Given the description of an element on the screen output the (x, y) to click on. 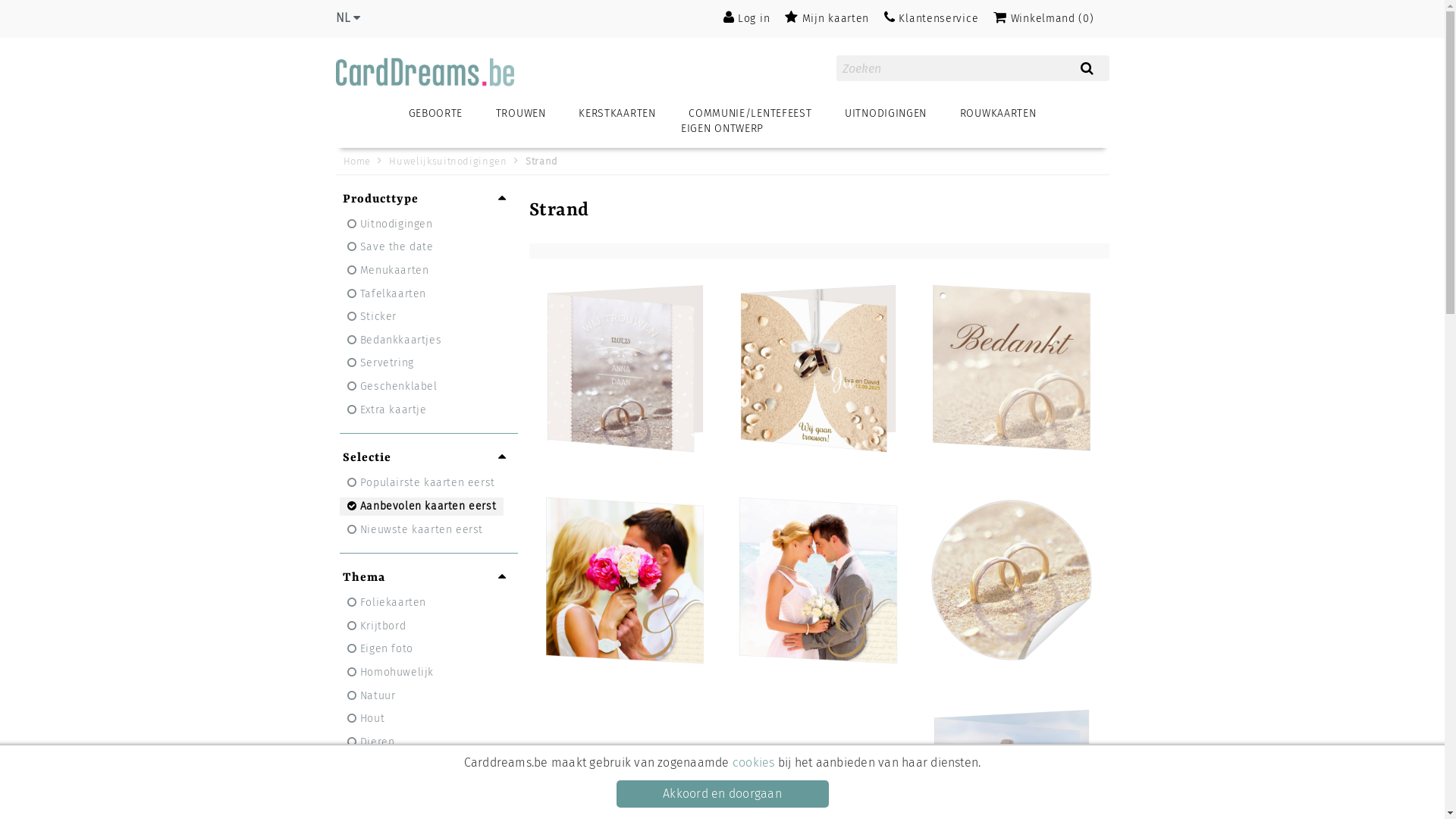
 Aanbevolen kaarten eerst Element type: text (421, 506)
 Foliekaarten Element type: text (386, 602)
UITNODIGINGEN Element type: text (885, 113)
 Hartjes Element type: text (372, 788)
 Populairste kaarten eerst Element type: text (420, 482)
 Tafelkaarten Element type: text (386, 294)
 Nieuwste kaarten eerst Element type: text (414, 529)
 Bedankkaartjes Element type: text (394, 340)
Title homepage logo Element type: hover (427, 67)
 Uitnodigingen Element type: text (389, 224)
 Cartoon Element type: text (373, 765)
 Natuur Element type: text (371, 696)
Huwelijksuitnodigingen Element type: text (449, 160)
EIGEN ONTWERP Element type: text (721, 128)
 Extra kaartje Element type: text (386, 410)
KERSTKAARTEN Element type: text (616, 113)
 Dieren Element type: text (370, 742)
GEBOORTE Element type: text (435, 113)
COMMUNIE/LENTEFEEST Element type: text (749, 113)
 Sticker Element type: text (371, 316)
Mijn kaarten Element type: text (826, 18)
Home Element type: text (357, 160)
 Menukaarten Element type: text (387, 270)
cookies Element type: text (753, 762)
Title homepage logo Element type: hover (427, 71)
NL Element type: text (347, 17)
Winkelmand (0) Element type: text (1043, 18)
ROUWKAARTEN Element type: text (997, 113)
Akkoord en doorgaan Element type: text (721, 793)
 Krijtbord Element type: text (376, 626)
 Servetring Element type: text (380, 363)
 Homohuwelijk Element type: text (390, 672)
 Eigen foto Element type: text (379, 649)
Log in Element type: text (746, 18)
 Hout Element type: text (365, 718)
TROUWEN Element type: text (520, 113)
Klantenservice Element type: text (931, 18)
 Save the date Element type: text (390, 247)
 Geschenklabel Element type: text (392, 386)
